Given the description of an element on the screen output the (x, y) to click on. 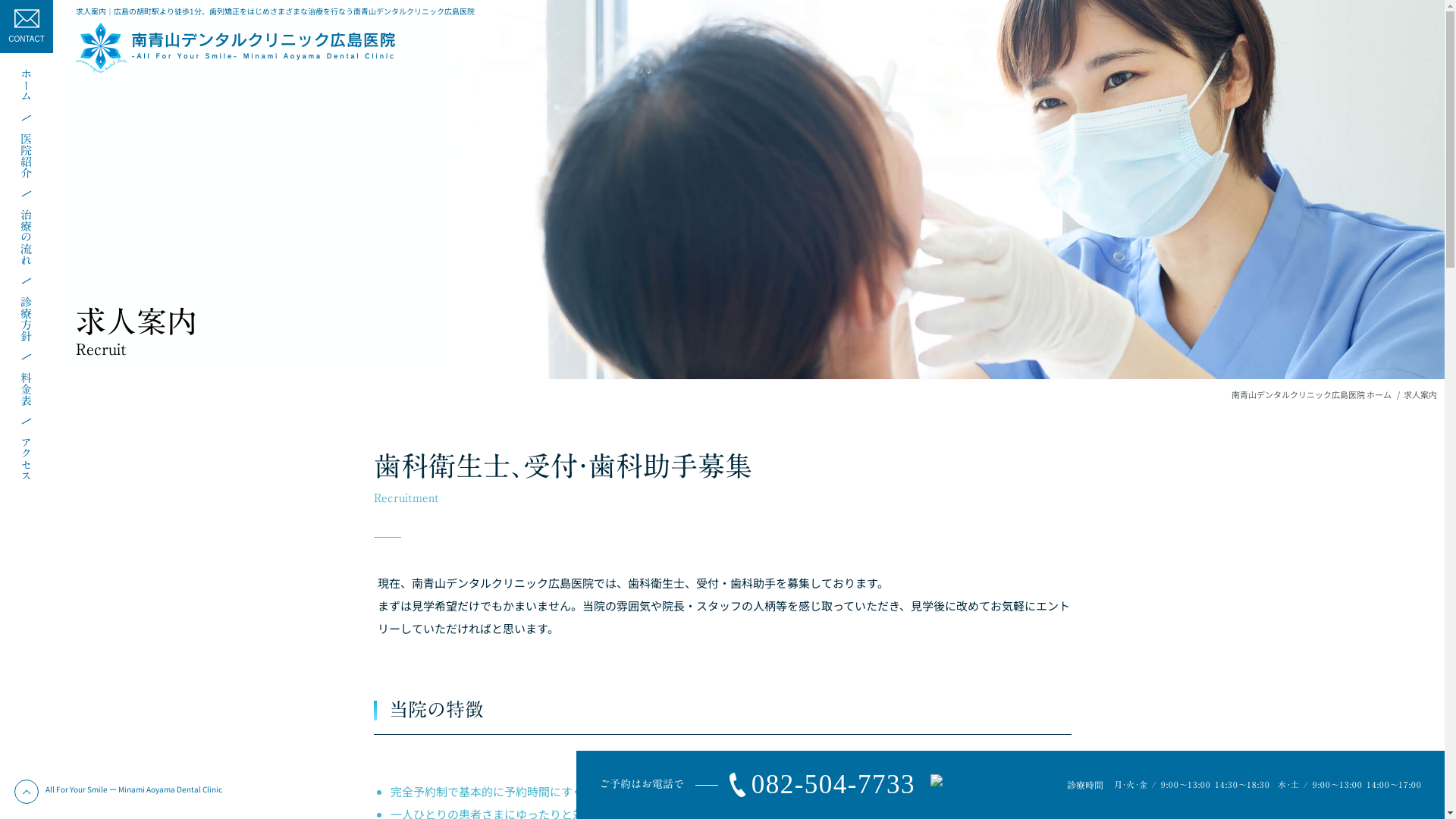
082-504-7733 Element type: text (816, 785)
CONTACT Element type: text (26, 26)
